Given the description of an element on the screen output the (x, y) to click on. 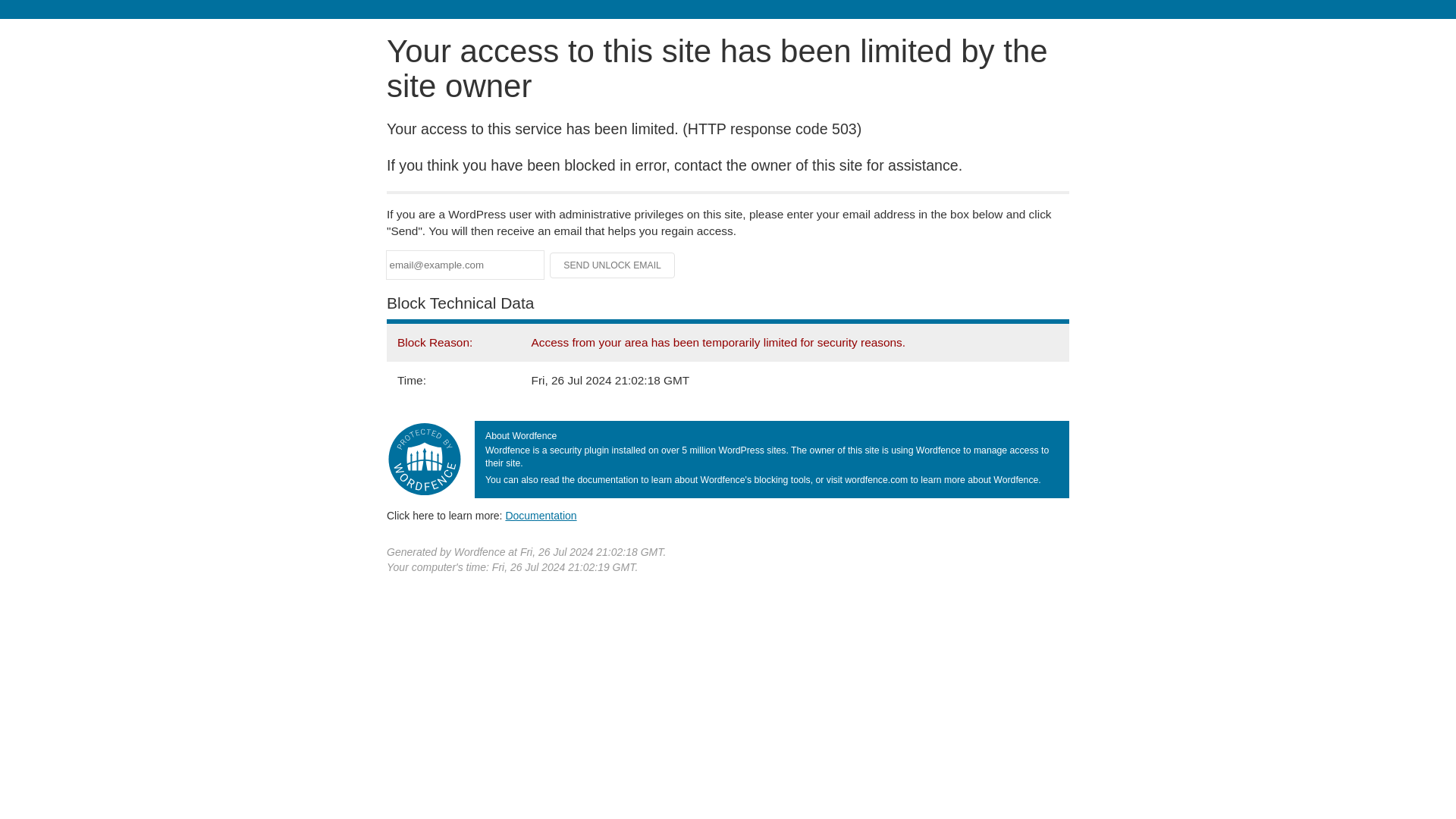
Documentation (540, 515)
Send Unlock Email (612, 265)
Send Unlock Email (612, 265)
